Given the description of an element on the screen output the (x, y) to click on. 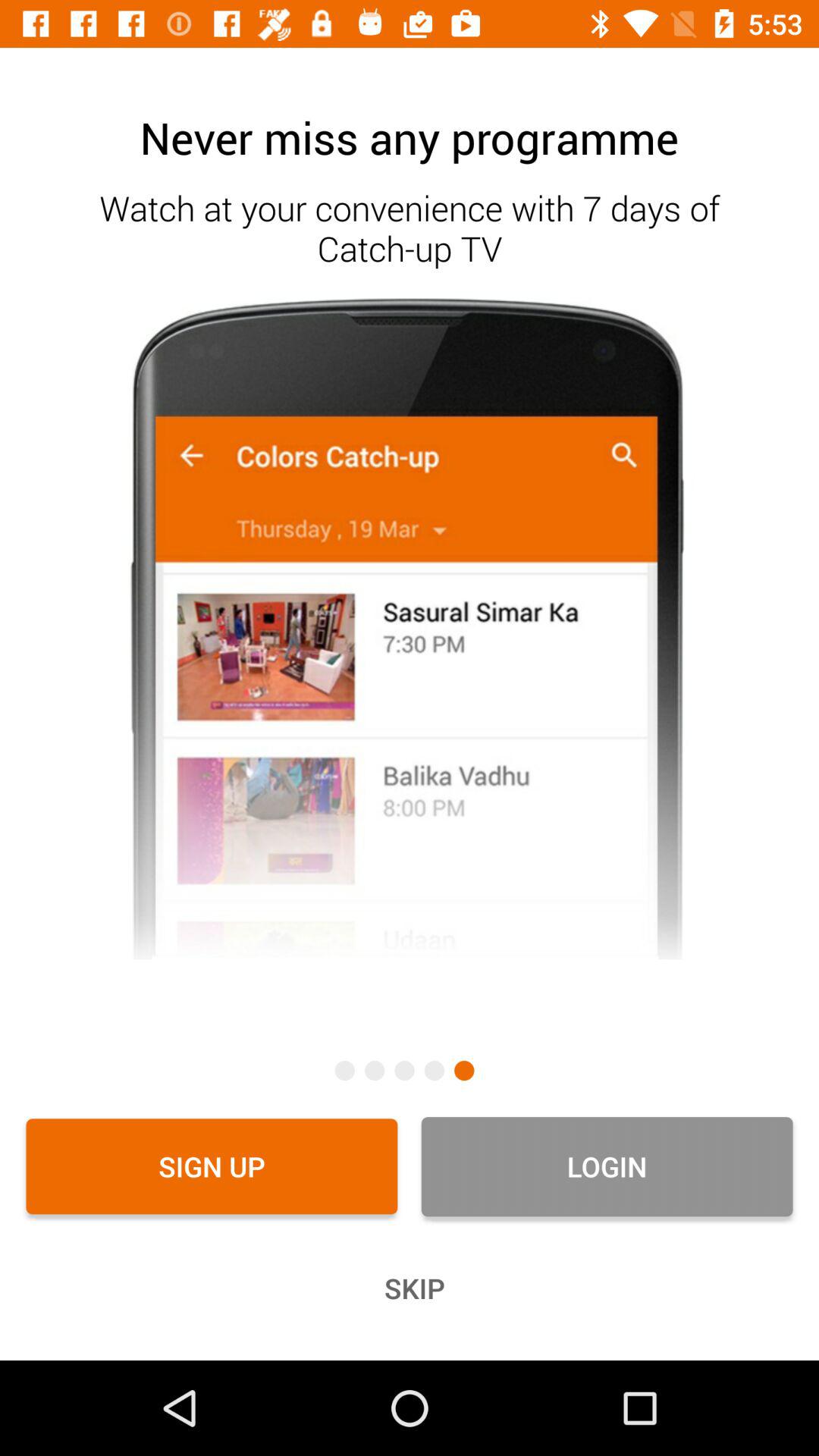
tap the sign up at the bottom left corner (211, 1166)
